Given the description of an element on the screen output the (x, y) to click on. 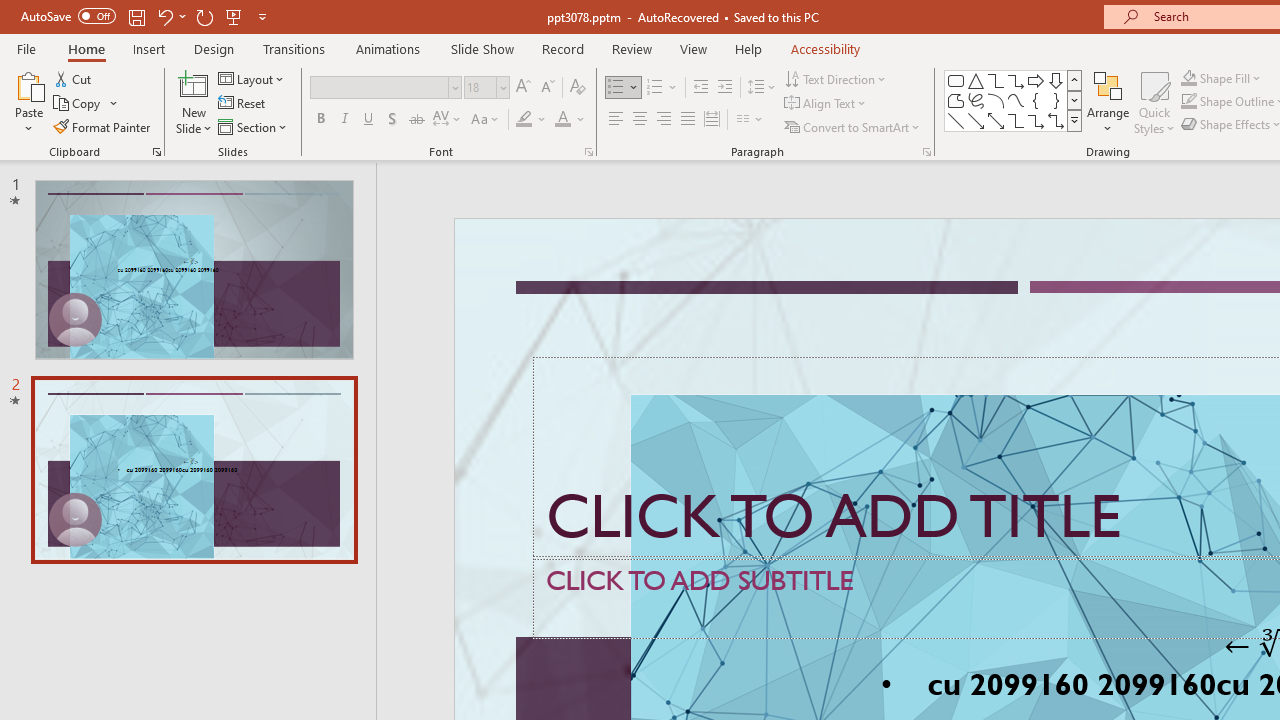
Shape Fill Dark Green, Accent 2 (1188, 78)
Shape Outline Green, Accent 1 (1188, 101)
Line (955, 120)
Paragraph... (926, 151)
Text Highlight Color Yellow (524, 119)
Shapes (1074, 120)
Row up (1074, 79)
Connector: Elbow Arrow (1035, 120)
Save (136, 15)
Redo (204, 15)
Font (385, 87)
Line Arrow (975, 120)
Slide (194, 469)
Arrange (1108, 102)
